Given the description of an element on the screen output the (x, y) to click on. 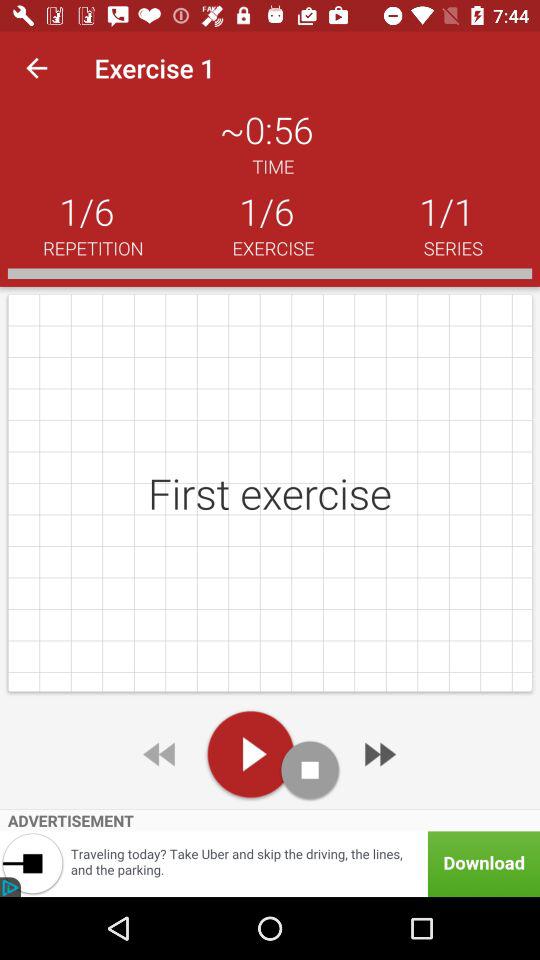
starts exercise (250, 754)
